Given the description of an element on the screen output the (x, y) to click on. 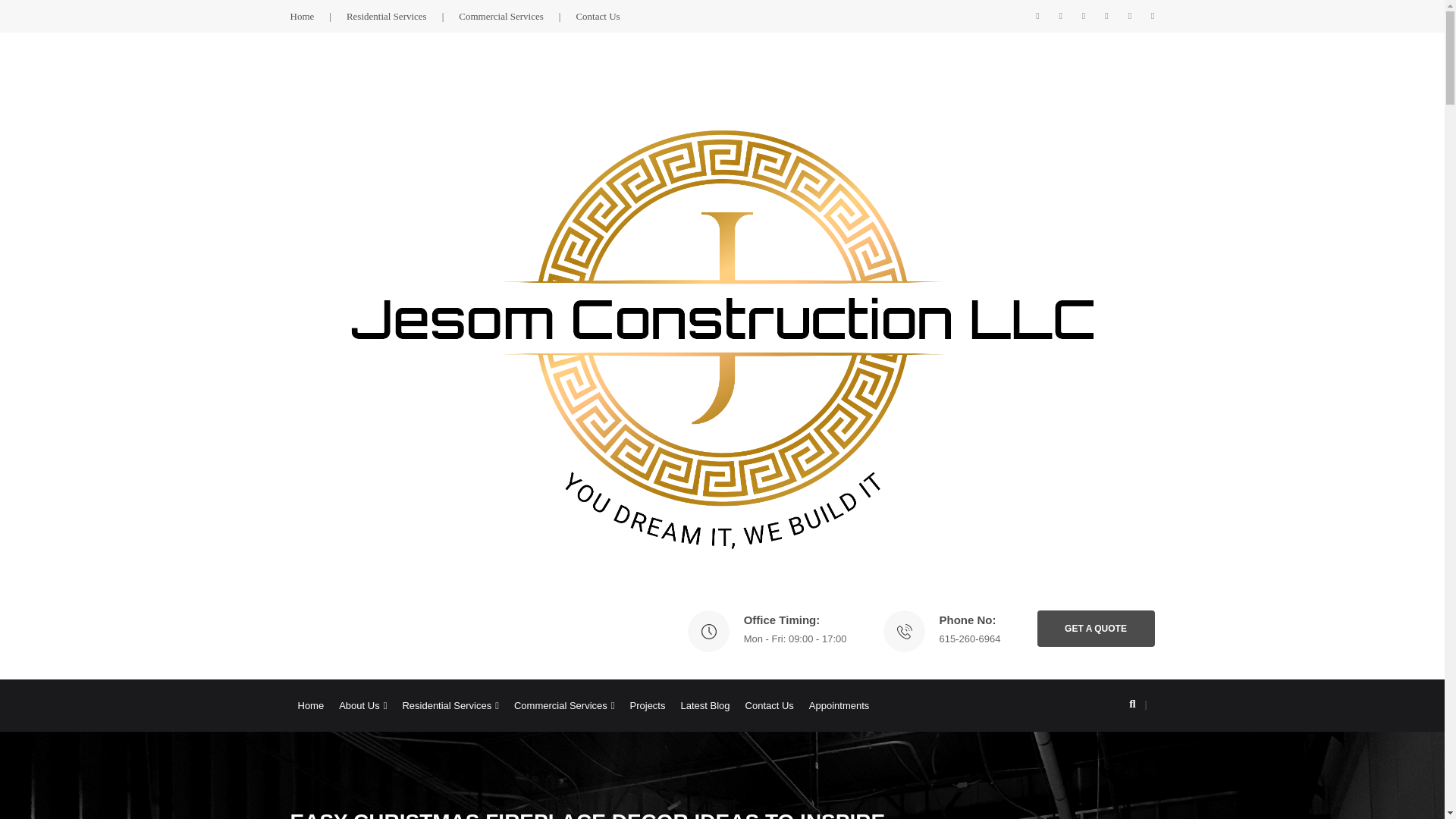
Commercial Services (563, 705)
INTERIOR (1132, 816)
Latest Blog (704, 705)
Appointments (839, 705)
Home (317, 15)
Contact Us (769, 705)
About Us (363, 705)
Residential Services (402, 15)
Residential Services (450, 705)
Home (310, 705)
GET A QUOTE (1095, 628)
Contact Us (597, 15)
Commercial Services (516, 15)
HOME (1087, 816)
Projects (647, 705)
